Given the description of an element on the screen output the (x, y) to click on. 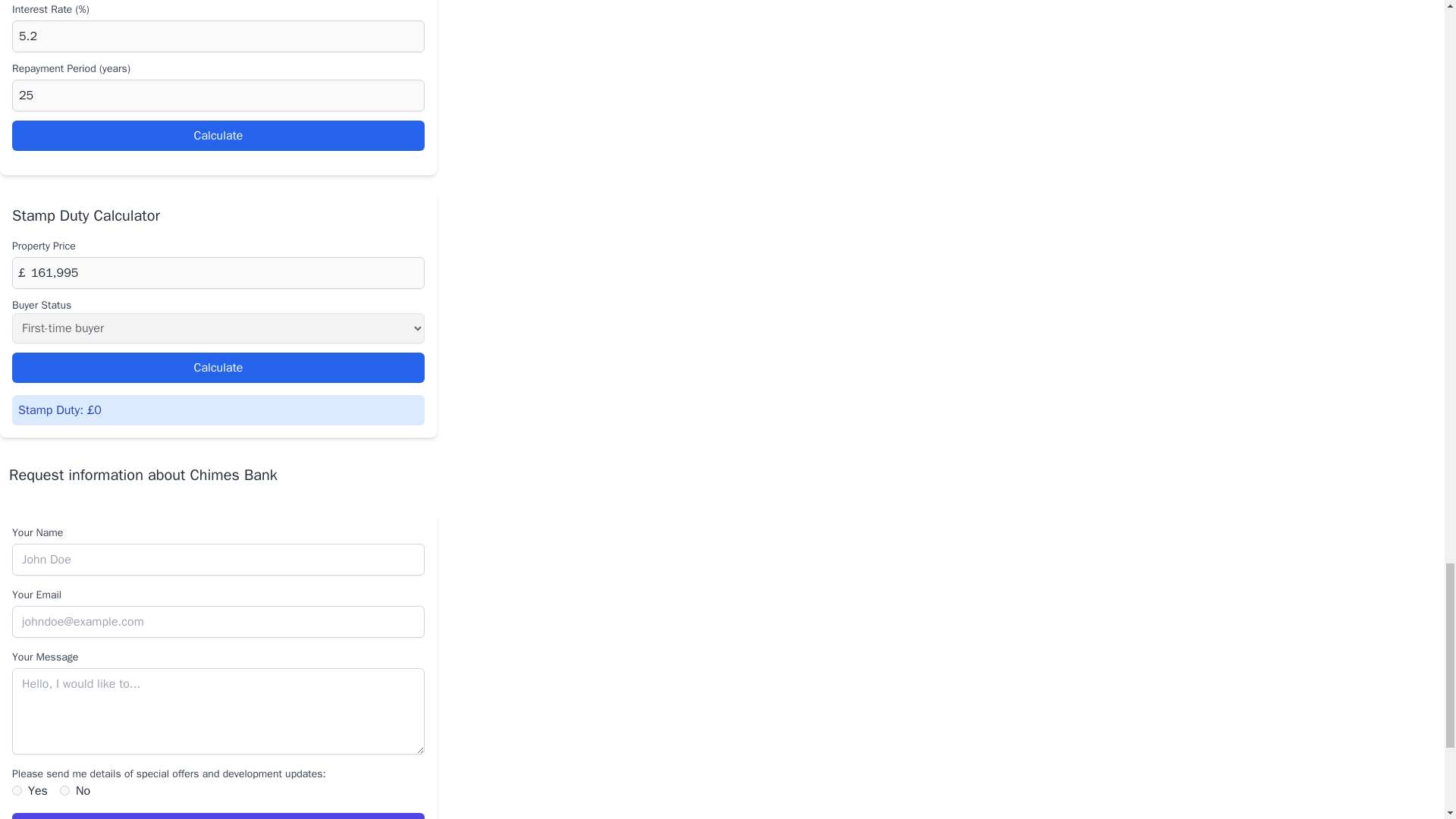
Calculate (218, 135)
Yes (16, 790)
161,995 (218, 273)
Calculate (218, 367)
Send Message (218, 816)
25 (218, 95)
5.2 (218, 36)
No (64, 790)
